Given the description of an element on the screen output the (x, y) to click on. 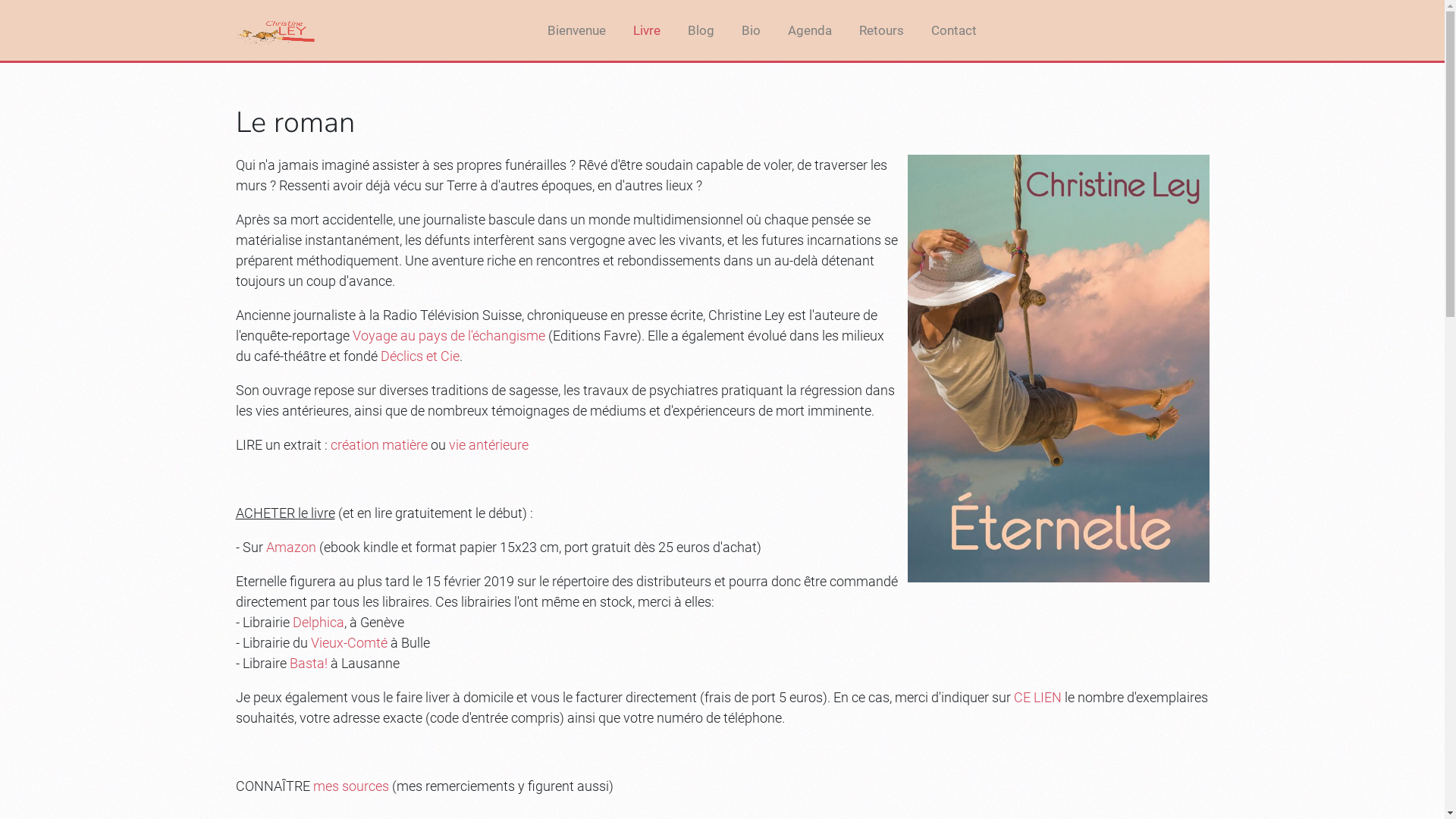
CE LIEN Element type: text (1036, 697)
Contact Element type: text (953, 30)
Christine Ley Element type: hover (274, 30)
Delphica Element type: text (318, 622)
Bio Element type: text (751, 30)
Retours Element type: text (881, 30)
Bienvenue Element type: text (576, 30)
Le roman Element type: text (294, 122)
Blog Element type: text (701, 30)
Basta! Element type: text (308, 663)
mes sources Element type: text (350, 785)
Agenda Element type: text (809, 30)
Livre Element type: text (646, 30)
Amazon Element type: text (290, 547)
